Given the description of an element on the screen output the (x, y) to click on. 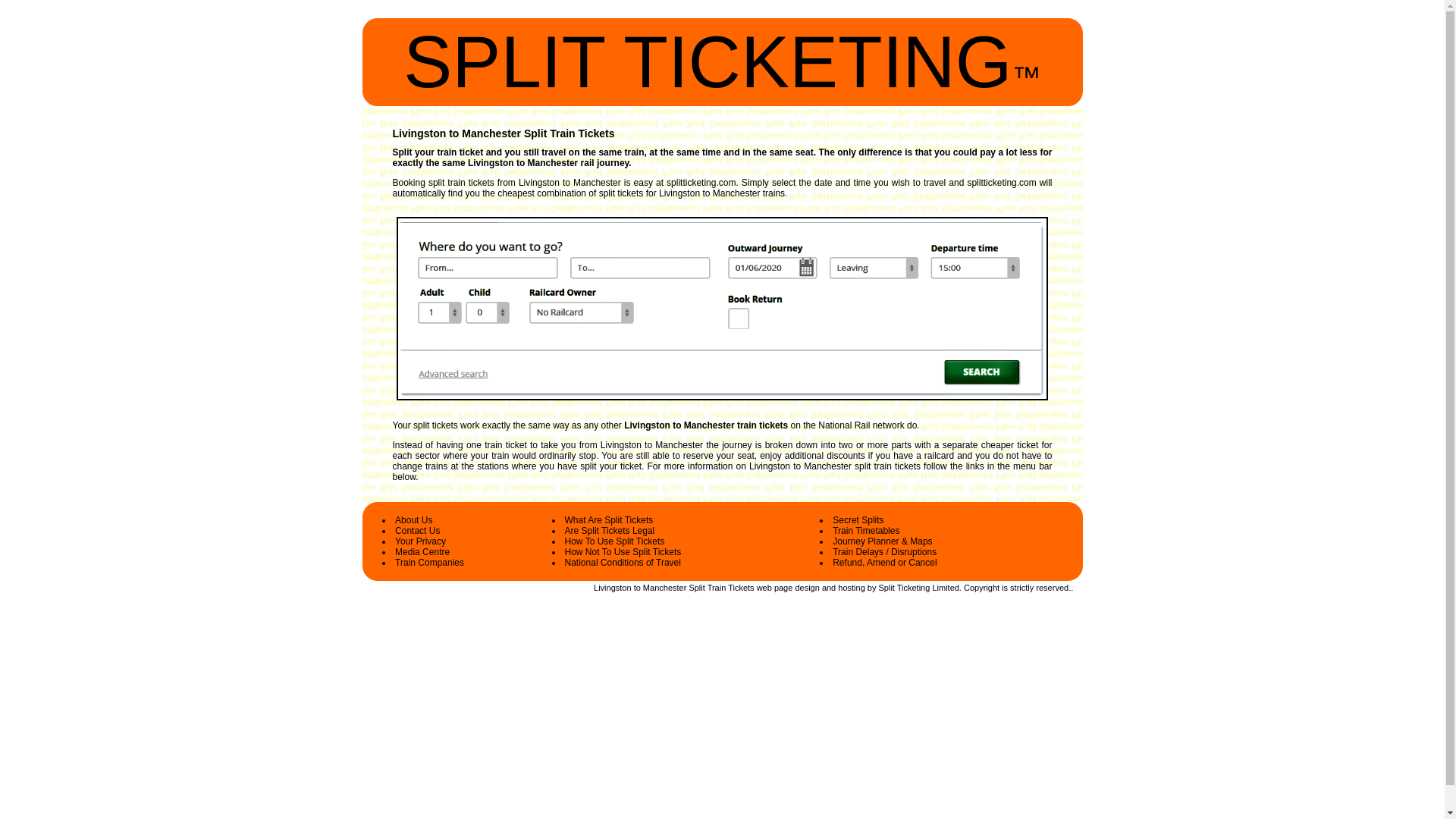
Contact Us (416, 530)
About Us (413, 520)
Refund, Amend or Cancel (884, 562)
How Not To Use Split Tickets (622, 552)
Copyright (980, 587)
National Conditions of Travel (622, 562)
Train Timetables (865, 530)
What Are Split Tickets (608, 520)
Media Centre (421, 552)
How To Use Split Tickets (614, 541)
Livingston to Manchester Split Train Tickets web (682, 587)
Are Split Tickets Legal (609, 530)
Secret Splits (857, 520)
Train Companies (429, 562)
Your Privacy (419, 541)
